Given the description of an element on the screen output the (x, y) to click on. 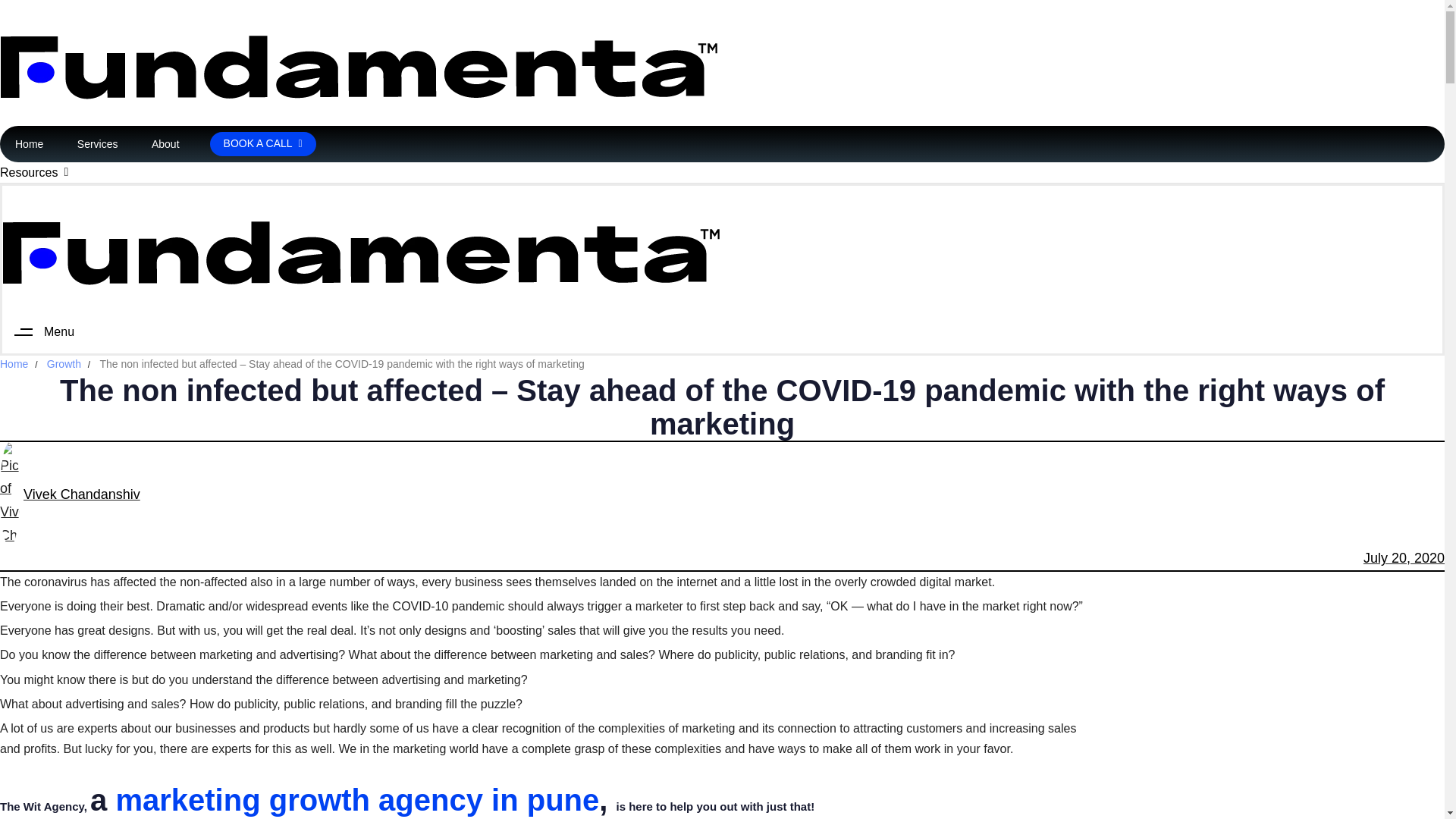
Growth (63, 364)
Home (13, 364)
Home (28, 144)
Services (97, 144)
marketing growth agency in pune (356, 799)
About (165, 144)
BOOK A CALL (262, 143)
Menu (38, 332)
